Given the description of an element on the screen output the (x, y) to click on. 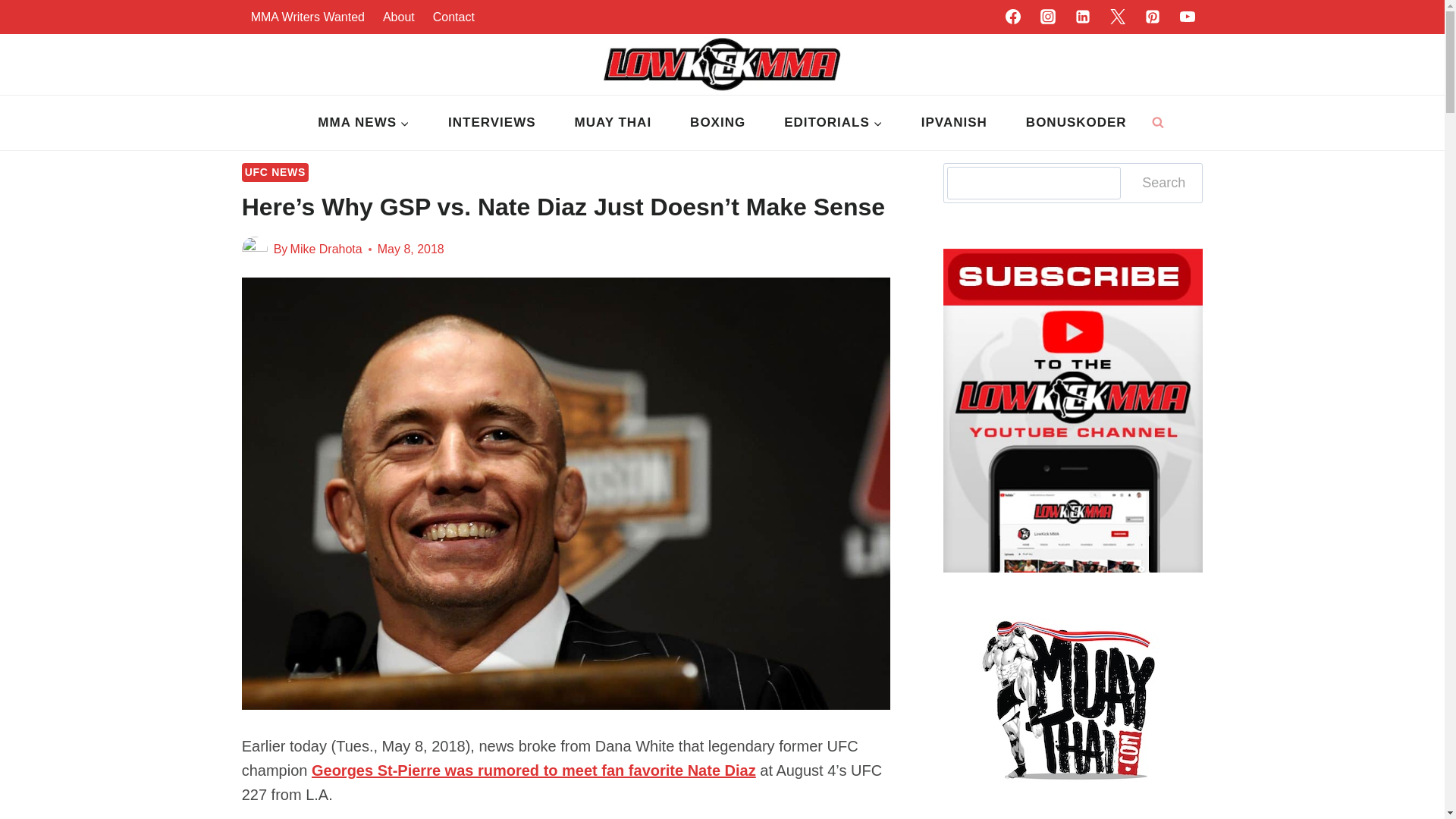
BONUSKODER (1075, 122)
Contact (453, 17)
BOXING (718, 122)
MUAY THAI (612, 122)
IPVANISH (953, 122)
MMA NEWS (363, 122)
MMA Writers Wanted (307, 17)
About (398, 17)
INTERVIEWS (491, 122)
